Given the description of an element on the screen output the (x, y) to click on. 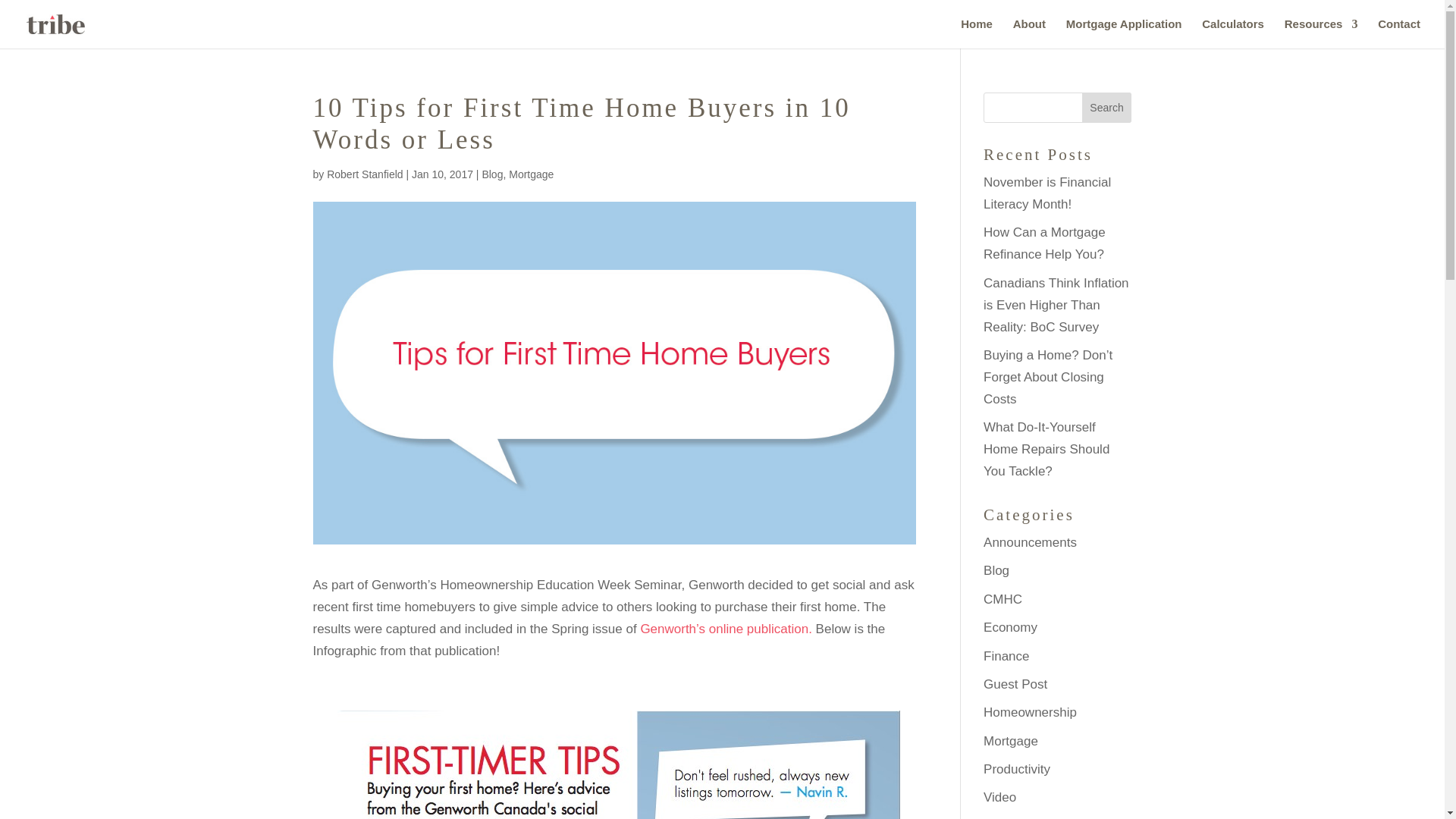
Announcements (1030, 542)
Spring 2015 Genworth Magazine (726, 628)
How Can a Mortgage Refinance Help You? (1044, 243)
Economy (1010, 626)
Finance (1006, 656)
Blog (996, 570)
CMHC (1003, 599)
Search (1106, 107)
Homeownership (1030, 712)
